Given the description of an element on the screen output the (x, y) to click on. 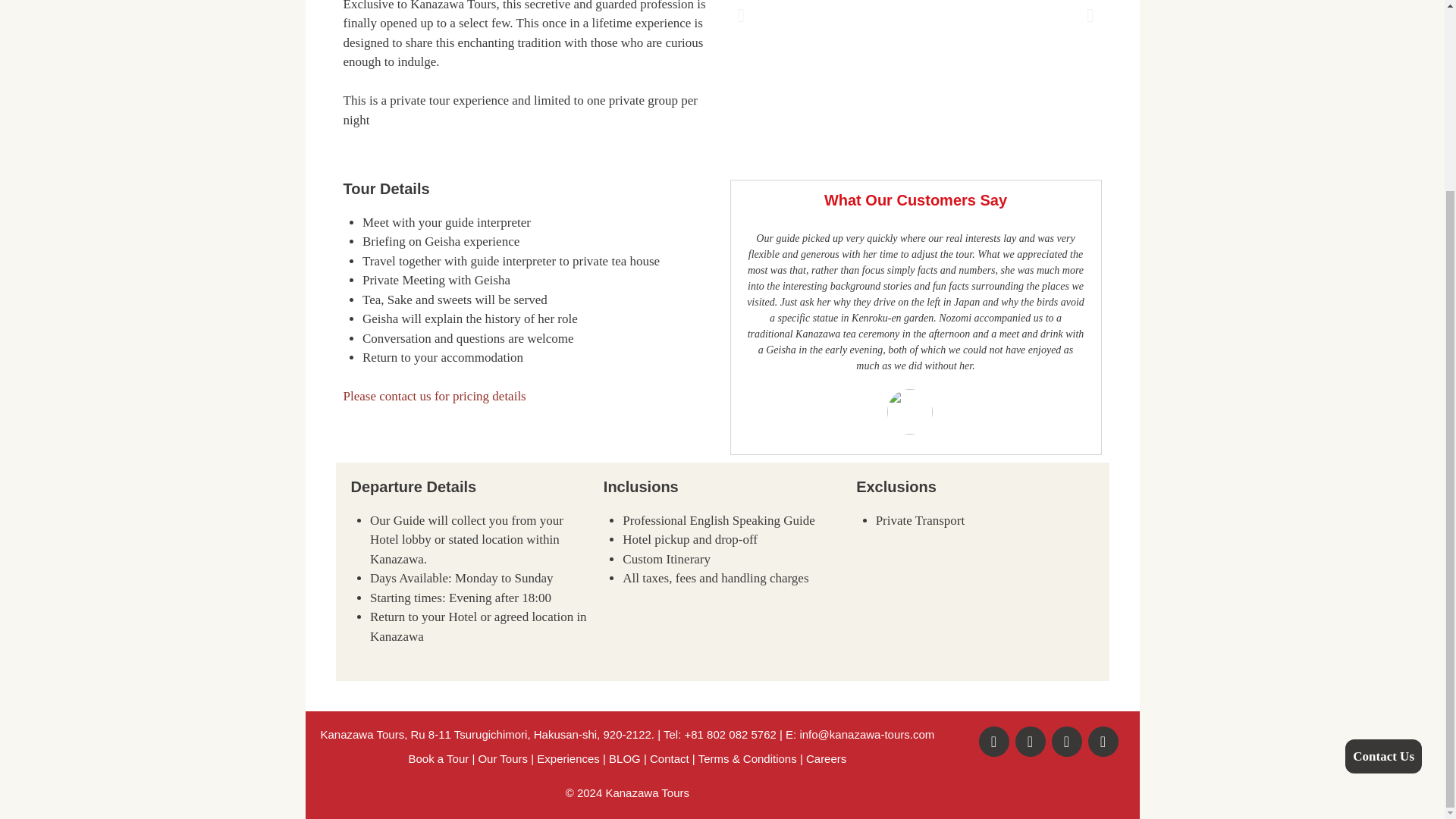
YouTube (1066, 741)
Facebook (993, 741)
Instagram (1029, 741)
Trip Advisor (1102, 741)
